Given the description of an element on the screen output the (x, y) to click on. 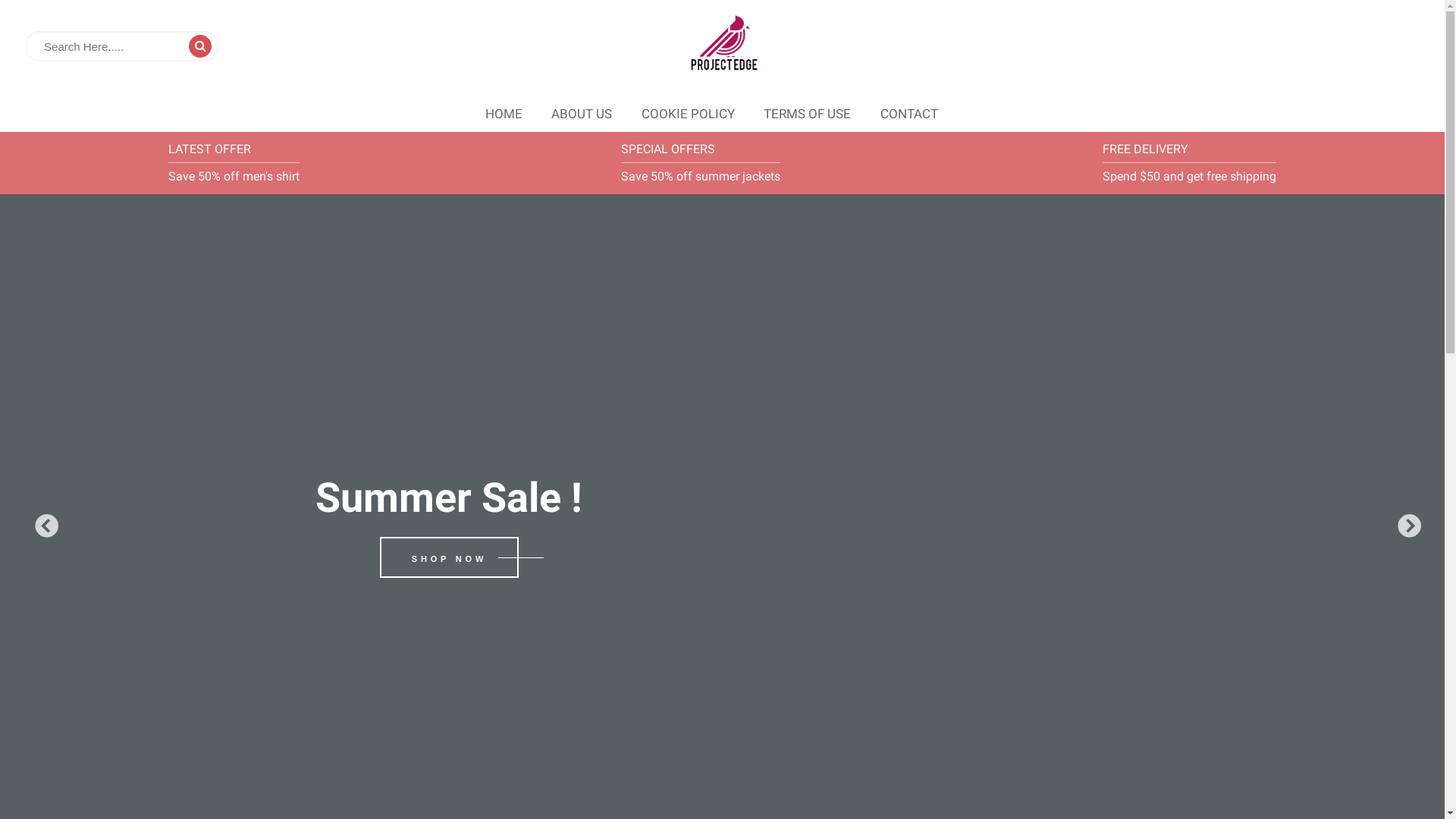
COOKIE POLICY Element type: text (687, 113)
Project Edge Element type: text (722, 45)
ABOUT US Element type: text (581, 113)
CONTACT Element type: text (908, 113)
SHOP NOW
SHOP NOW Element type: text (448, 556)
Previous Element type: text (40, 521)
TERMS OF USE Element type: text (806, 113)
Next Element type: text (1403, 521)
HOME Element type: text (503, 113)
